Given the description of an element on the screen output the (x, y) to click on. 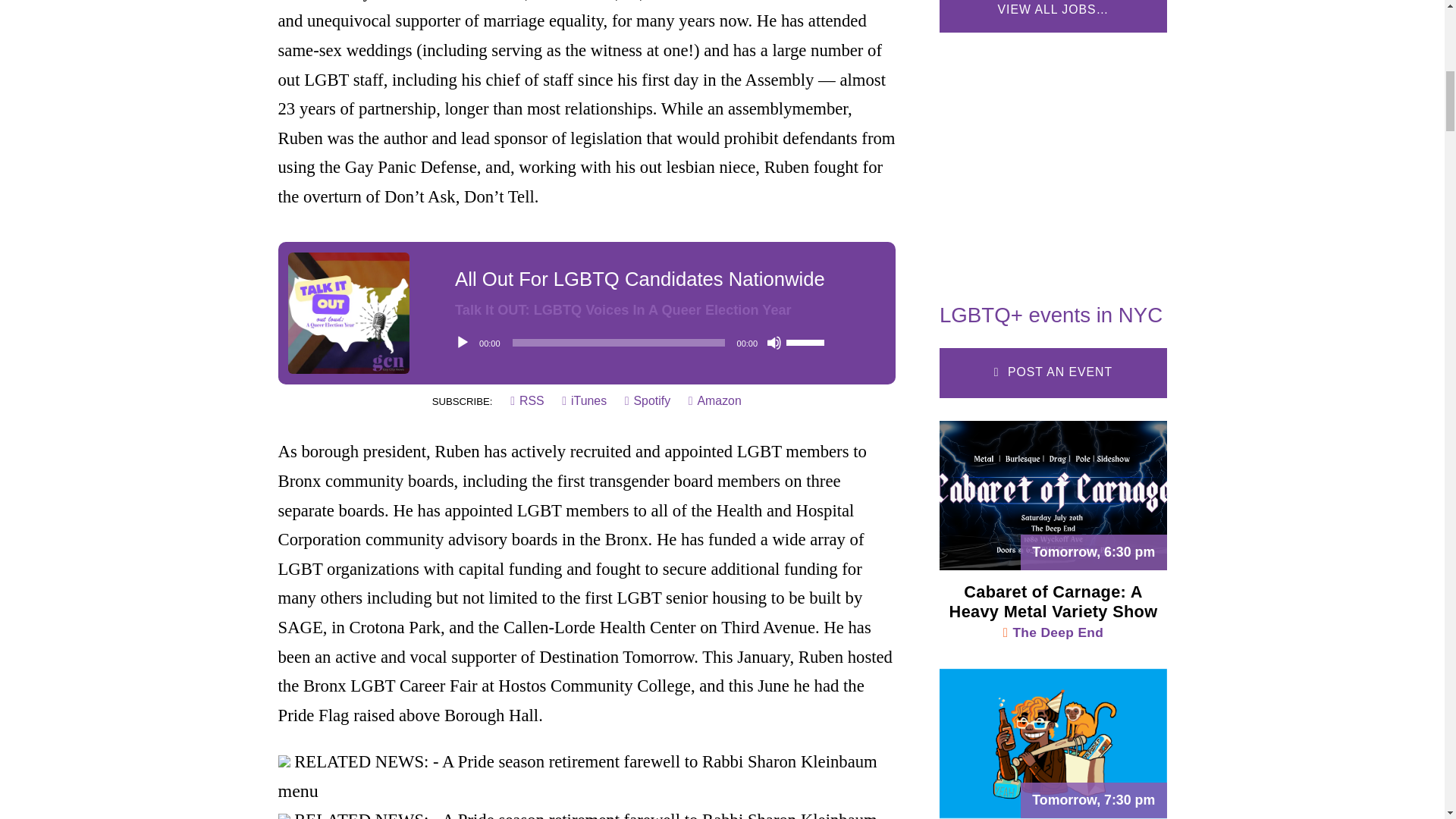
Play (462, 342)
Mute (774, 342)
